Given the description of an element on the screen output the (x, y) to click on. 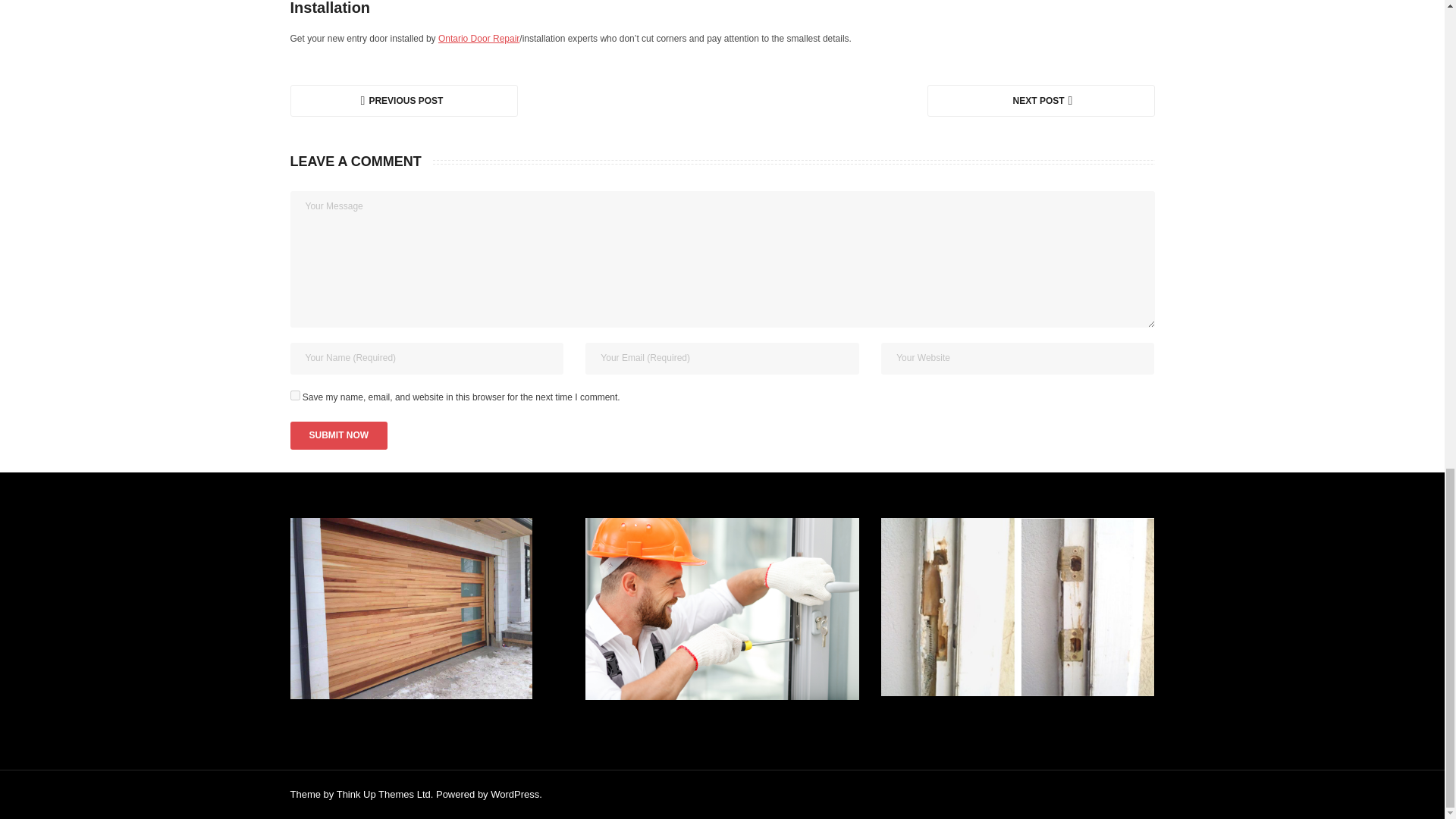
yes (294, 395)
Submit Now (338, 435)
